Given the description of an element on the screen output the (x, y) to click on. 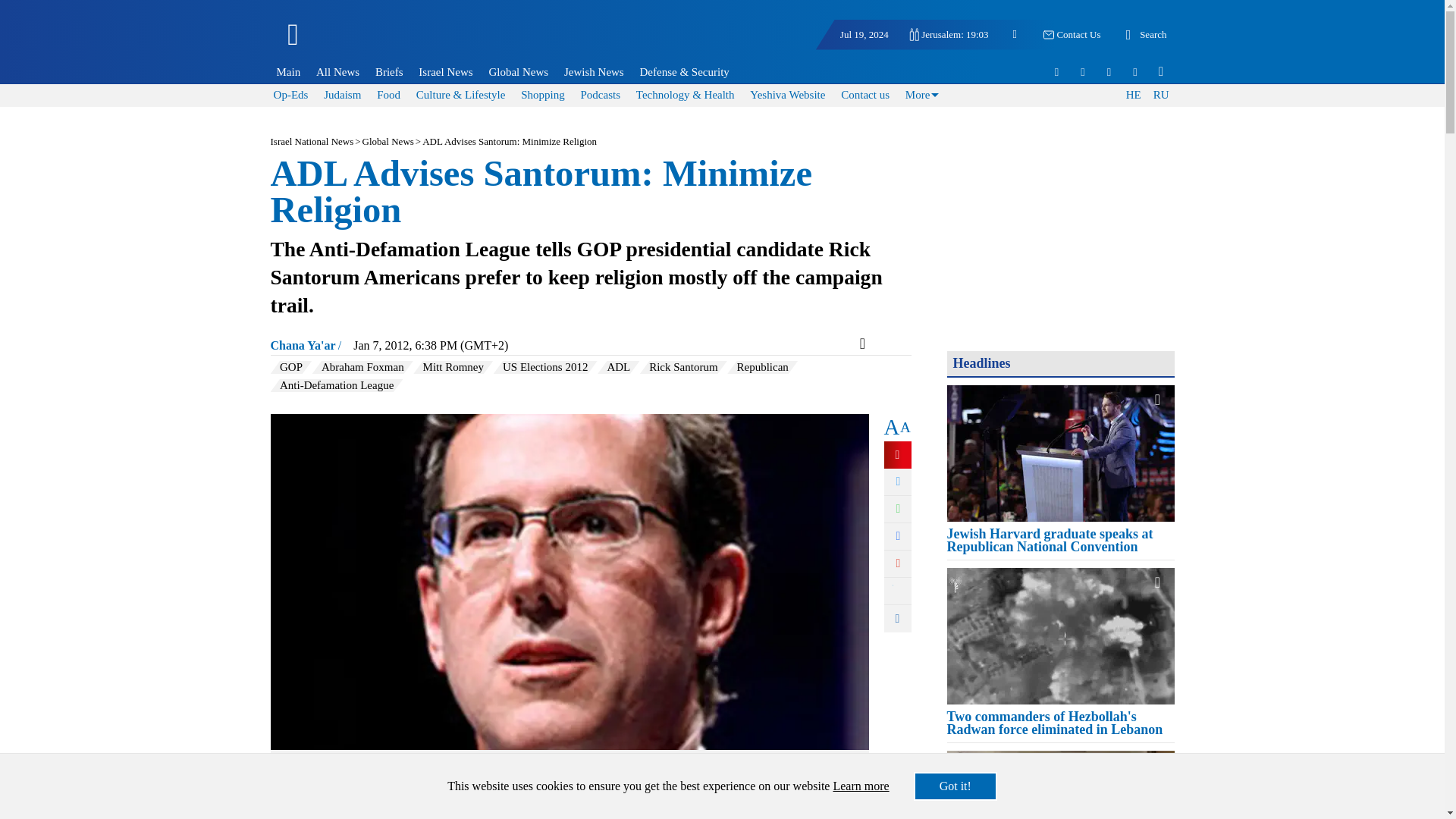
Contact Us (1071, 34)
Jul 19, 2024 (864, 34)
Israel National News - Arutz Sheva (373, 40)
All News (337, 71)
Briefs (389, 71)
Search (1143, 34)
Israel National News (311, 141)
RU (1160, 95)
Global News (518, 71)
Jewish News (593, 71)
Food (388, 94)
Jerusalem: 19:03 (947, 34)
HE (1133, 95)
Podcasts (599, 94)
Yeshiva Website (787, 94)
